Given the description of an element on the screen output the (x, y) to click on. 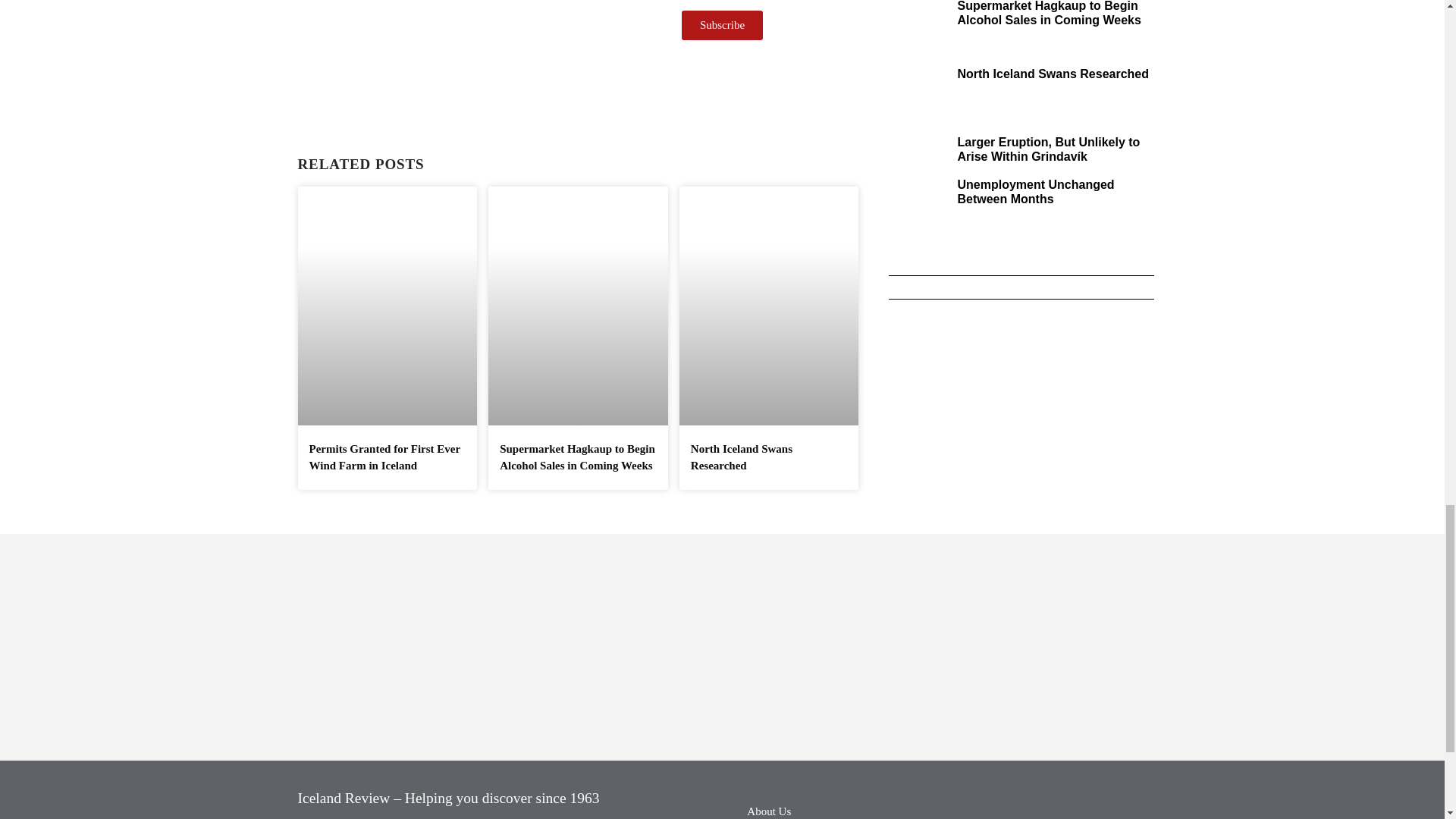
North Iceland Swans Researched (1052, 73)
Supermarket Hagkaup to Begin Alcohol Sales in Coming Weeks (1048, 13)
Unemployment Unchanged Between Months (1034, 191)
